Given the description of an element on the screen output the (x, y) to click on. 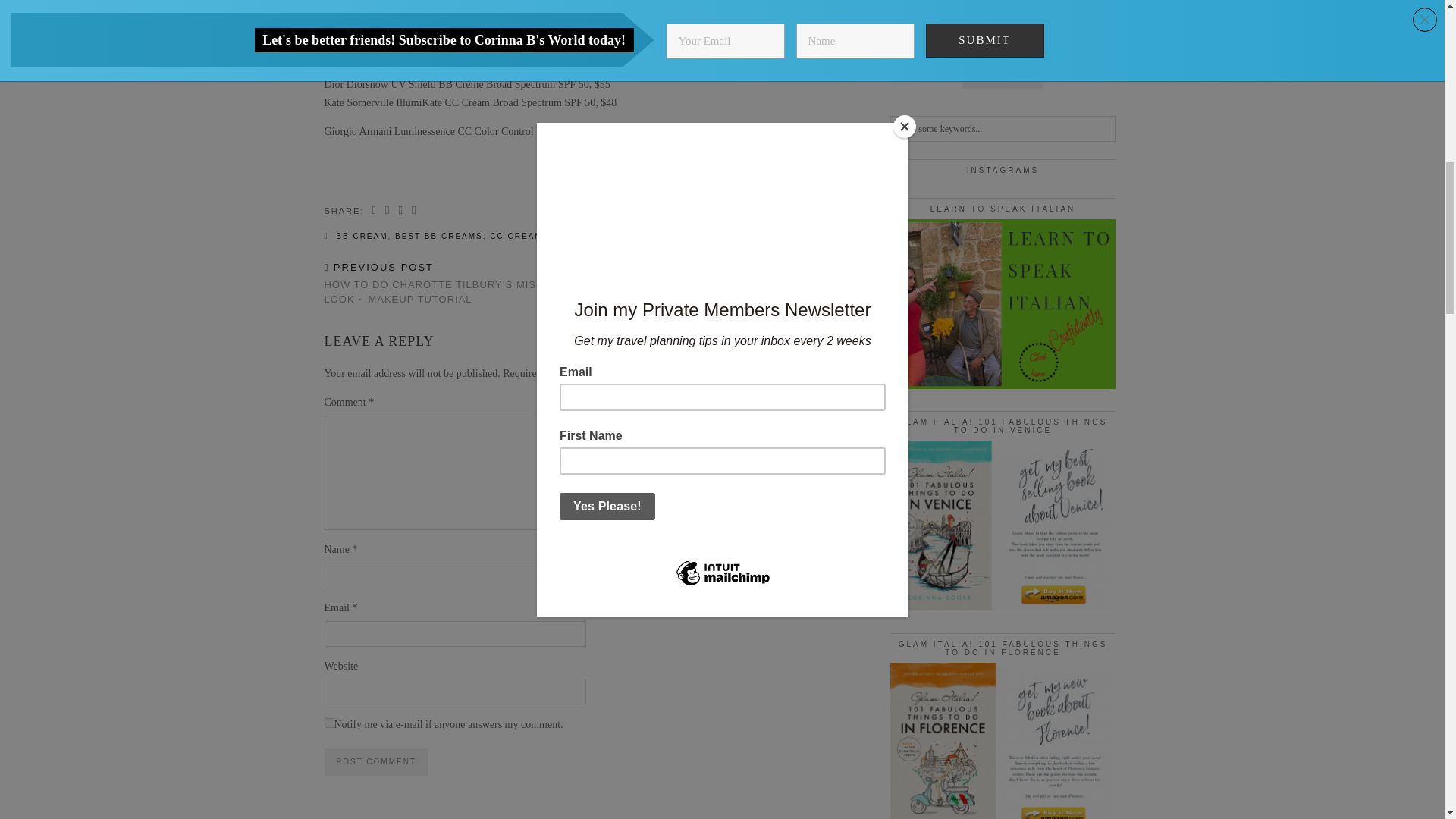
Share on tumblr (413, 210)
BB CREAM (361, 235)
Post Comment (376, 761)
Share on Pinterest (400, 210)
Share on Twitter (387, 210)
SUMMER MAKEUP (593, 235)
CC CREAM (515, 235)
BEST BB CREAMS (438, 235)
Subscribe (1002, 74)
on (329, 723)
Share on Facebook (374, 210)
